Given the description of an element on the screen output the (x, y) to click on. 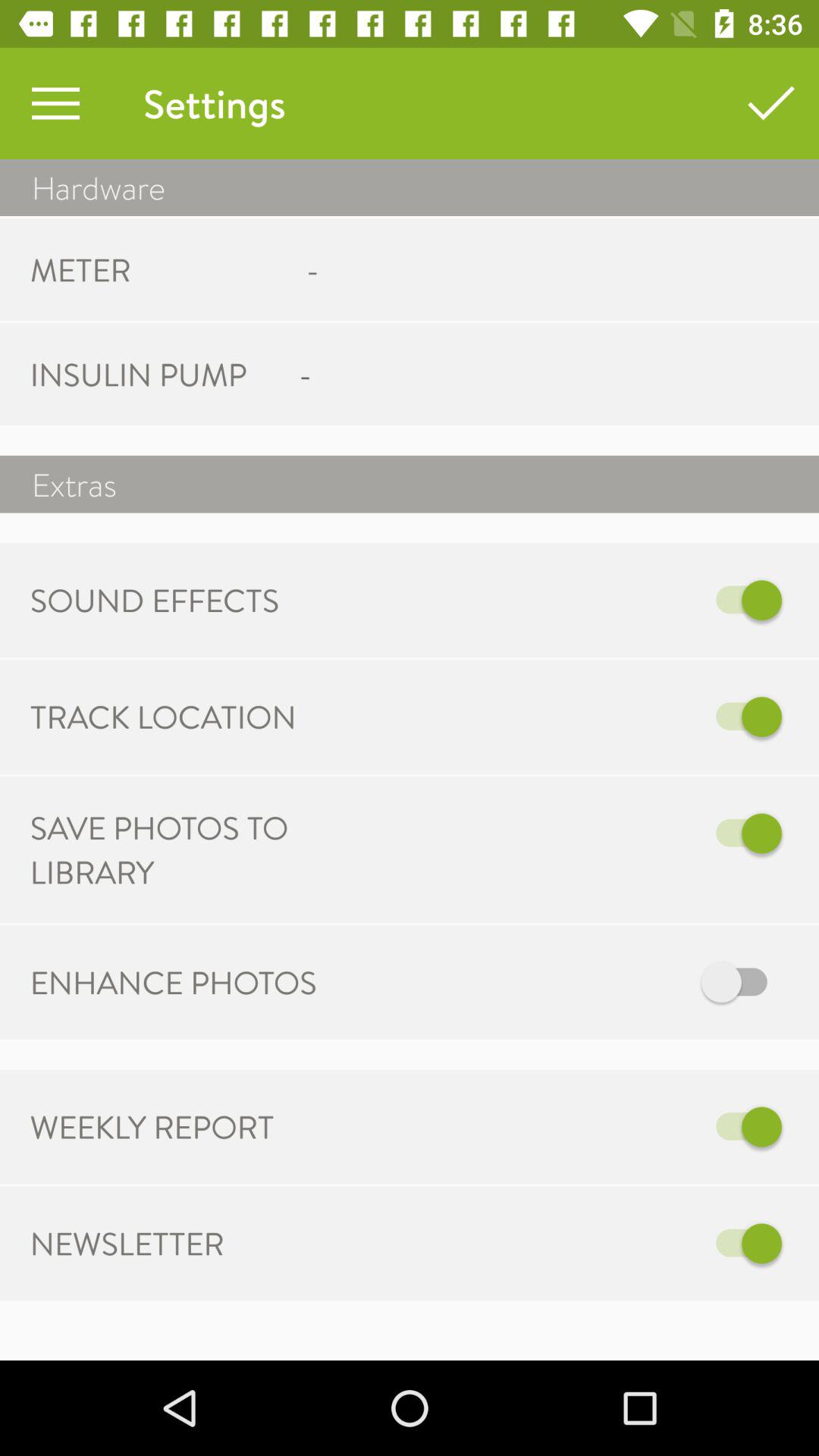
toggle sound effects (622, 600)
